Given the description of an element on the screen output the (x, y) to click on. 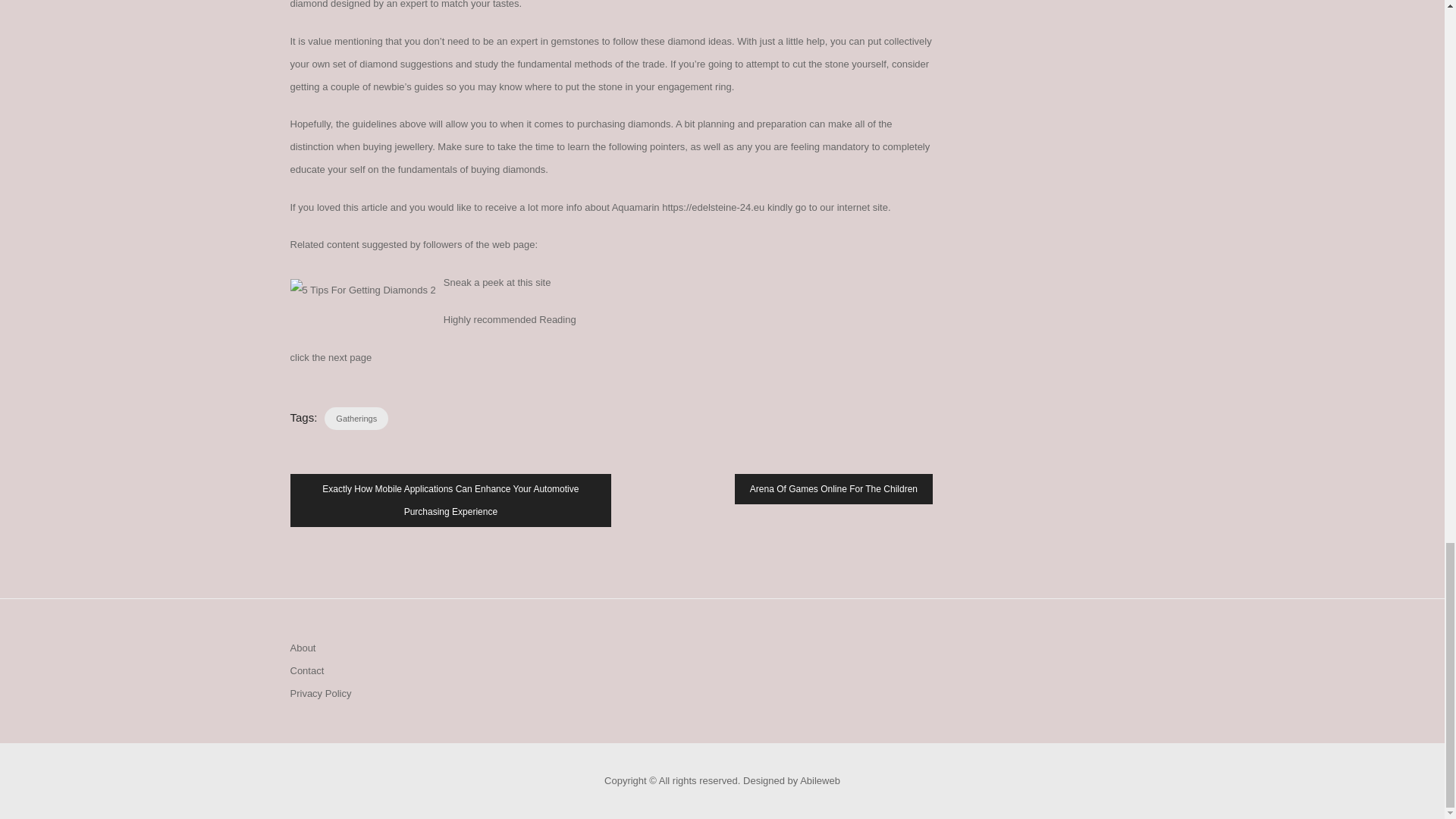
Arena Of Games Online For The Children (834, 489)
Sneak a peek at this site (497, 282)
About (302, 647)
click the next page (330, 357)
Gatherings (356, 418)
Contact (306, 670)
Designed by Abileweb (791, 780)
Highly recommended Reading (510, 319)
Privacy Policy (319, 693)
